Given the description of an element on the screen output the (x, y) to click on. 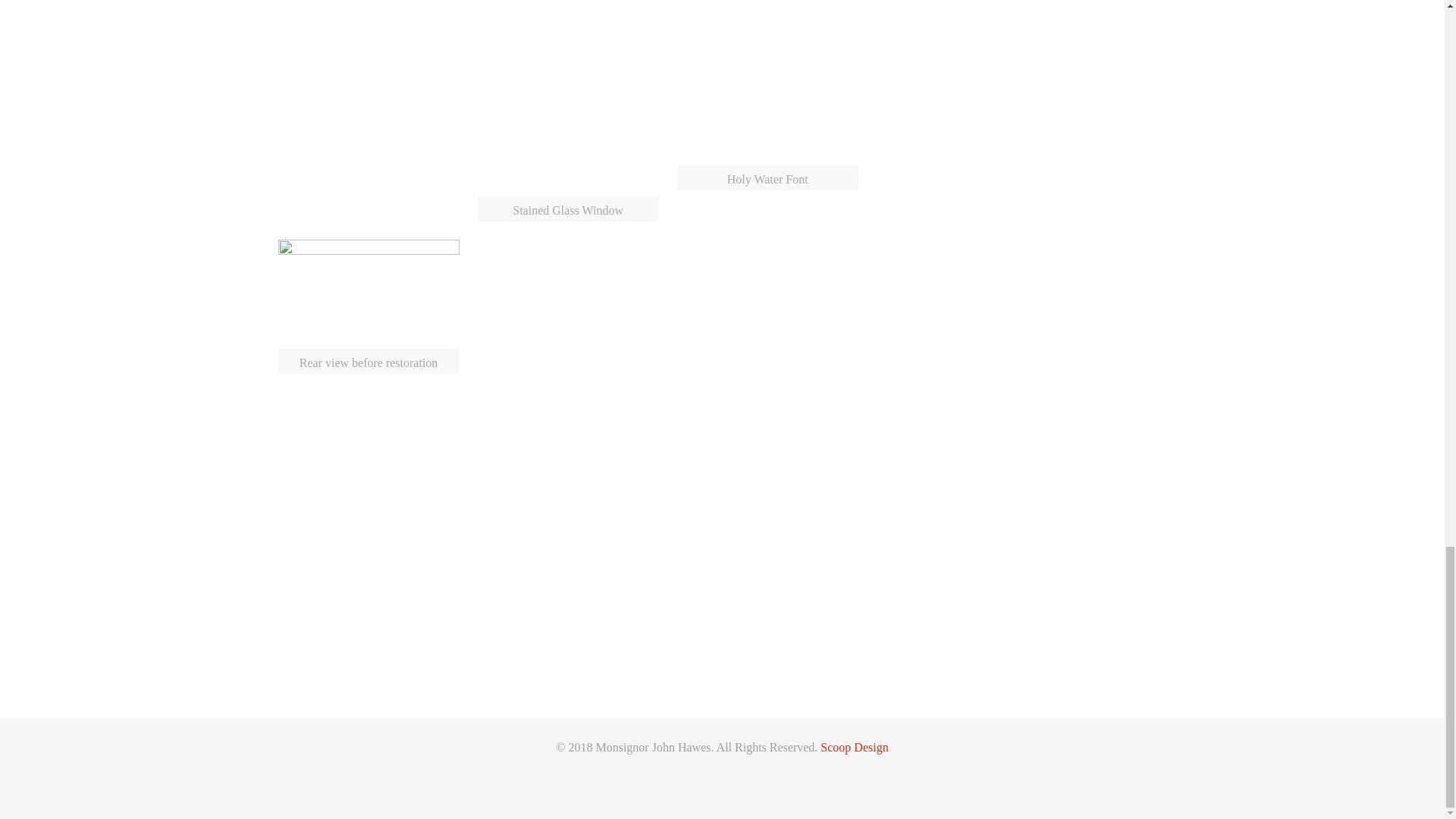
Tripadvisor (730, 767)
Facebook (713, 767)
